Given the description of an element on the screen output the (x, y) to click on. 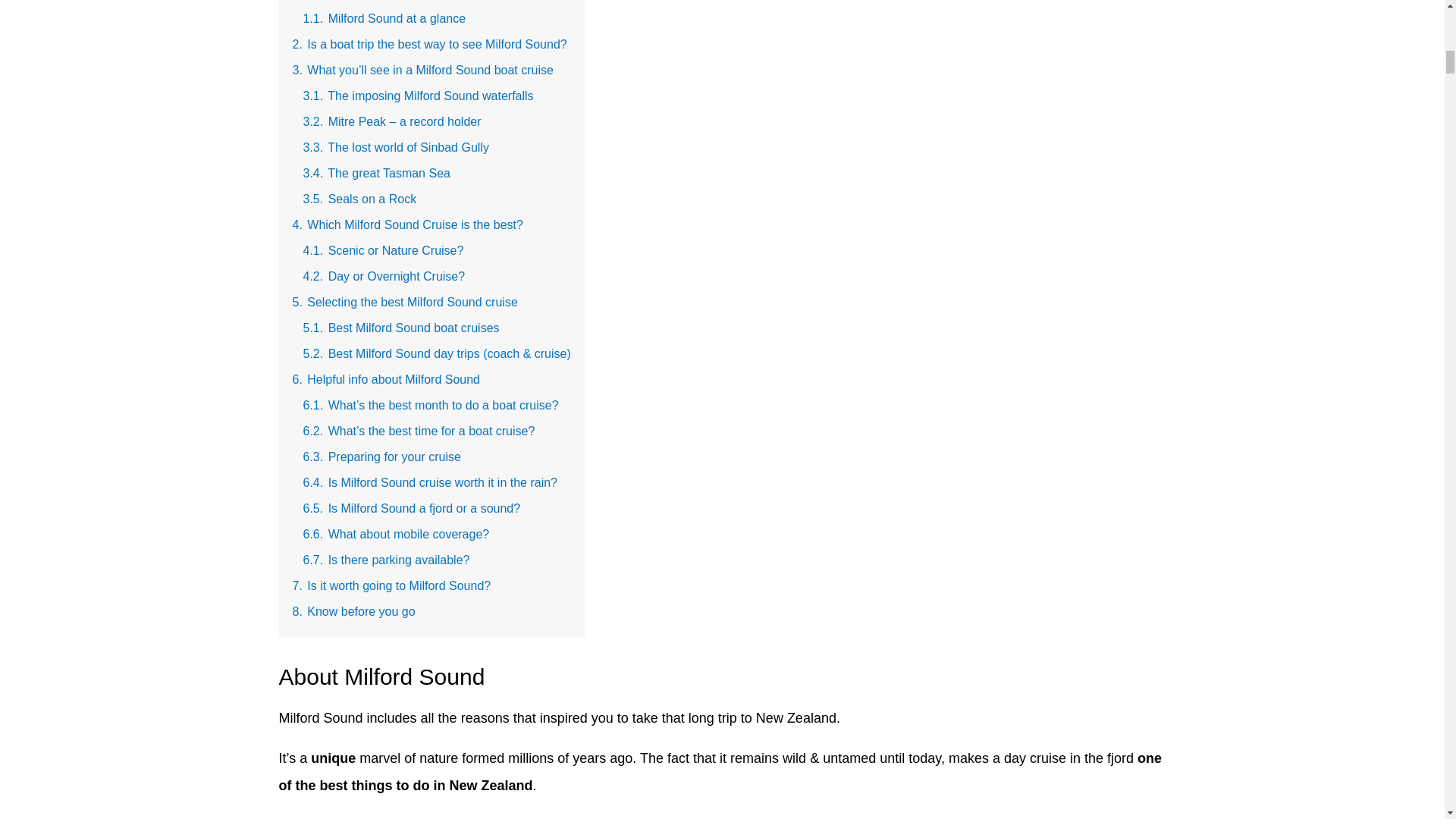
2. Is a boat trip the best way to see Milford Sound? (429, 43)
3.4. The great Tasman Sea (375, 173)
3.1. The imposing Milford Sound waterfalls (418, 95)
3.5. Seals on a Rock (359, 198)
1.1. Milford Sound at a glance (383, 18)
3.3. The lost world of Sinbad Gully (395, 146)
